Given the description of an element on the screen output the (x, y) to click on. 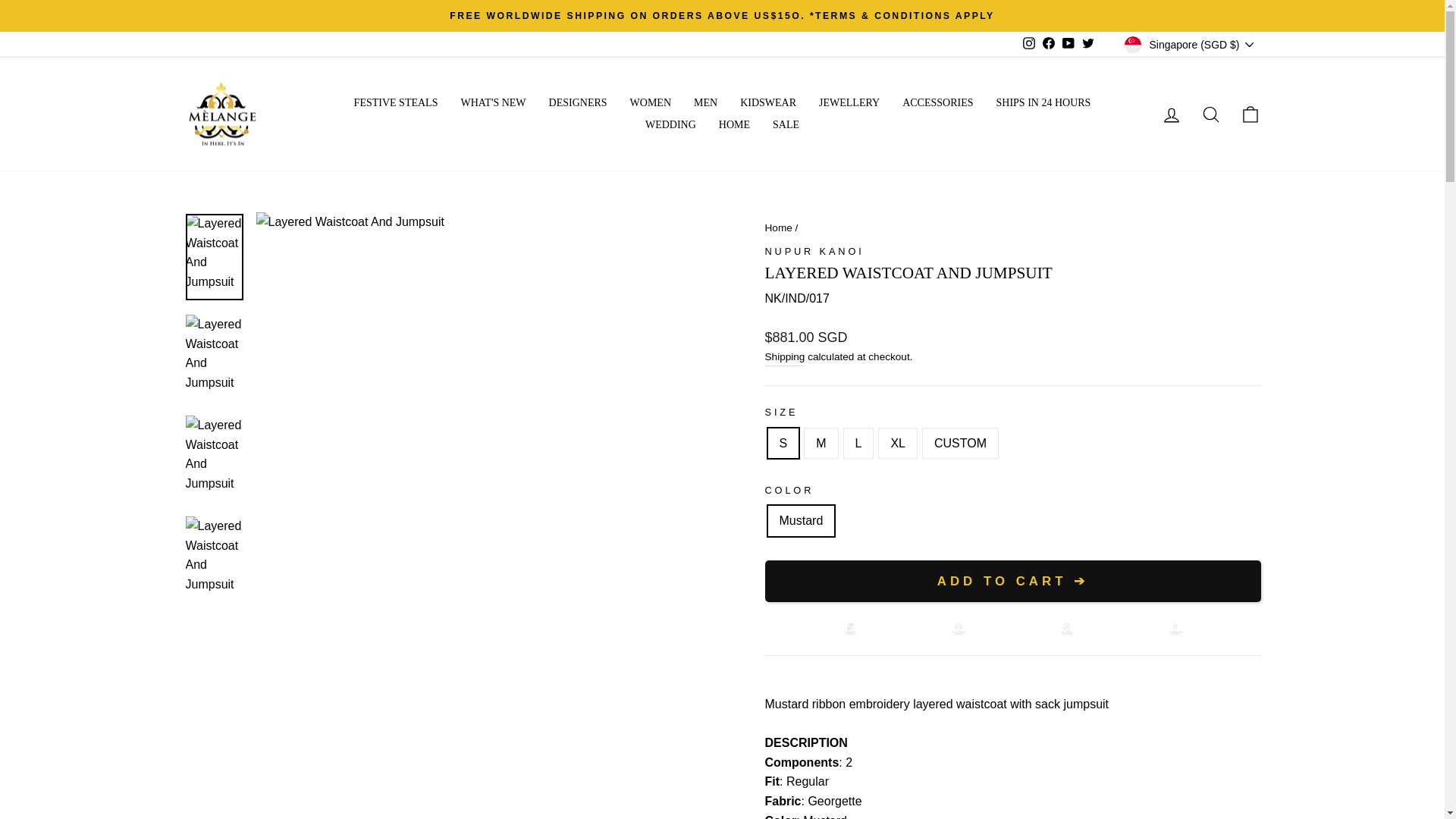
Back to the frontpage (778, 227)
